Given the description of an element on the screen output the (x, y) to click on. 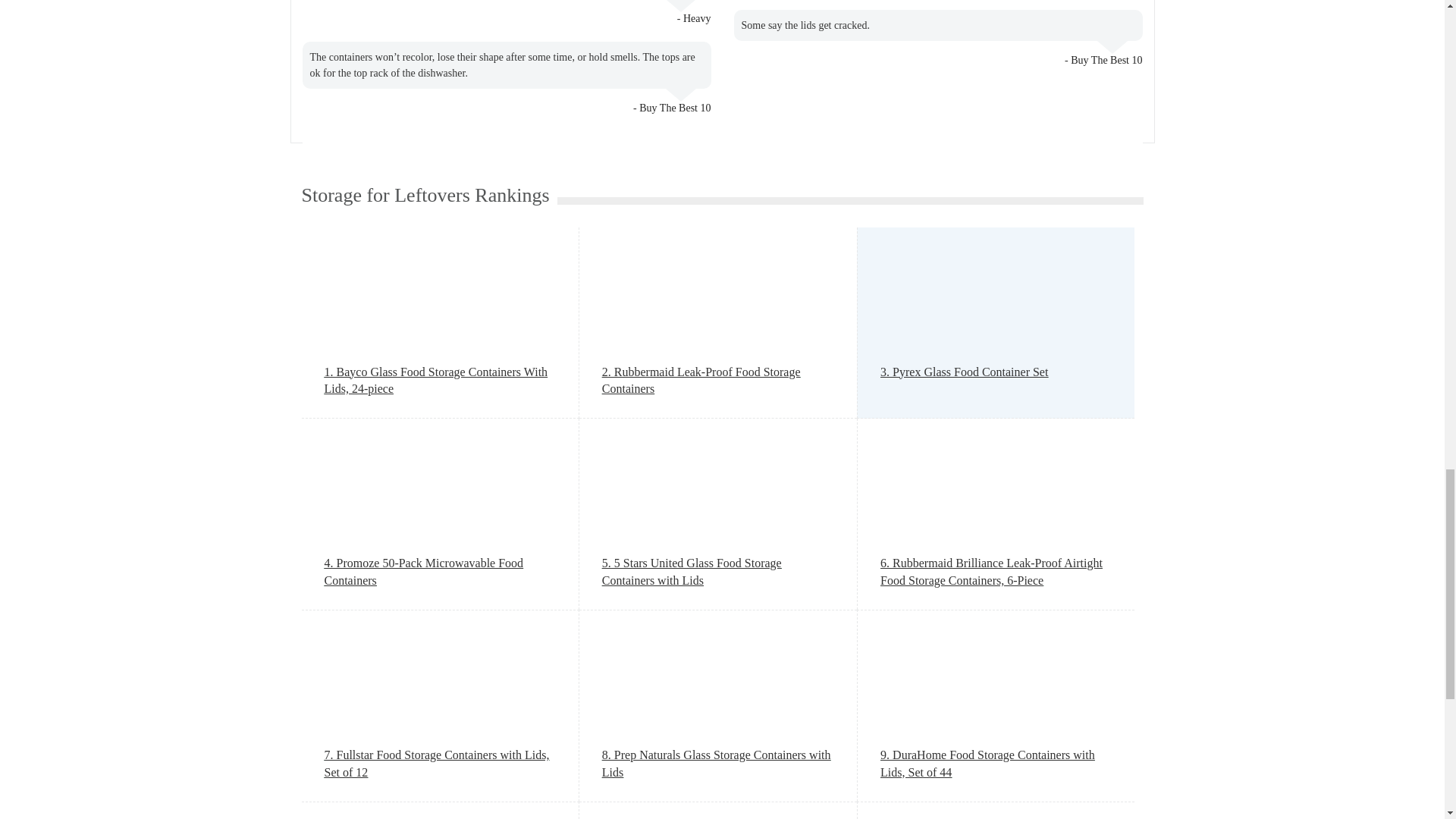
Heavy (696, 18)
Buy The Best 10 (674, 107)
